Given the description of an element on the screen output the (x, y) to click on. 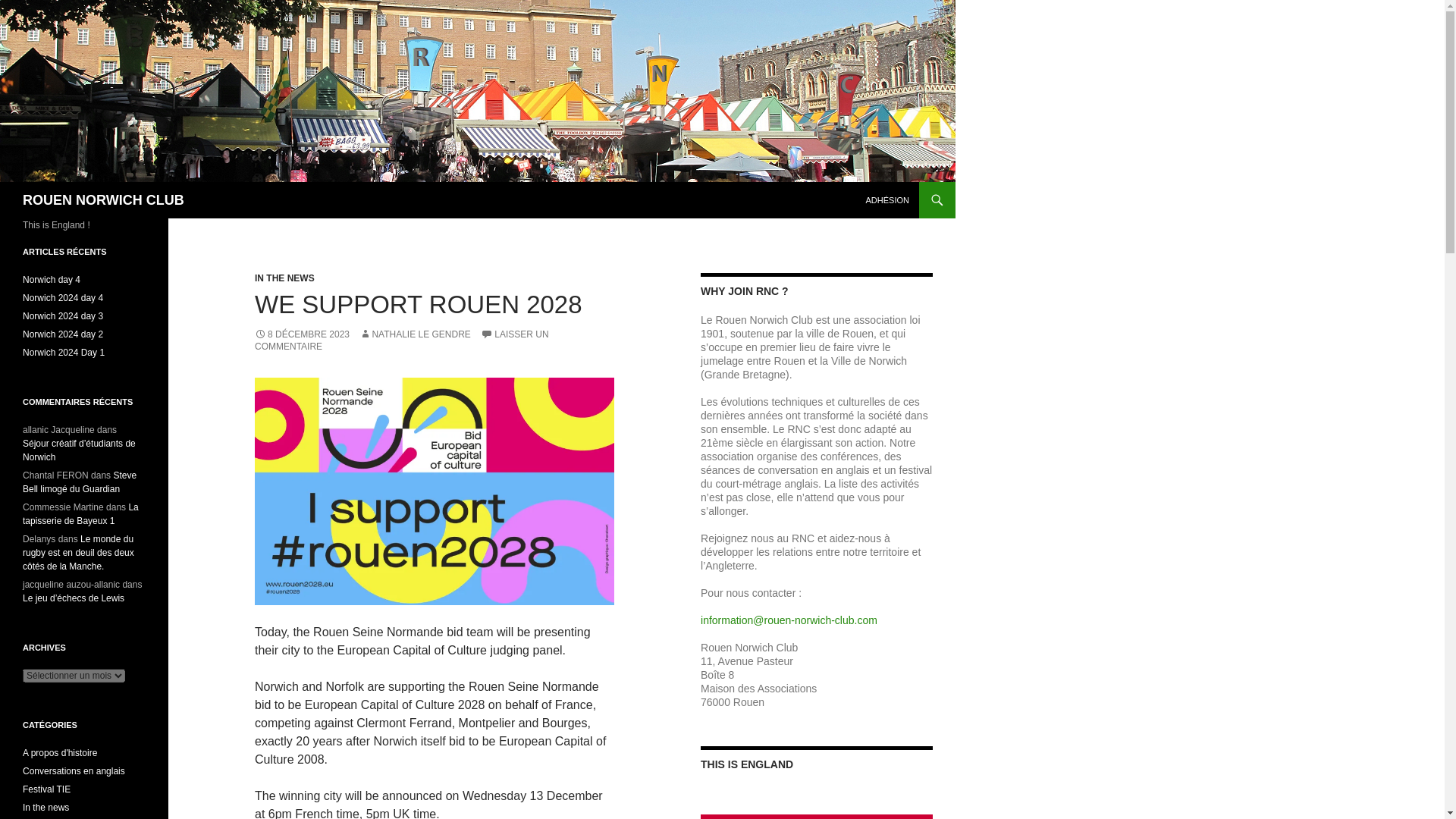
Conversations en anglais (74, 770)
IN THE NEWS (284, 277)
NATHALIE LE GENDRE (414, 334)
Norwich day 4 (51, 279)
Norwich 2024 day 3 (63, 316)
LAISSER UN COMMENTAIRE (401, 340)
La tapisserie de Bayeux 1 (80, 514)
Norwich 2024 day 2 (63, 334)
Festival TIE (46, 788)
ROUEN NORWICH CLUB (103, 199)
Norwich 2024 Day 1 (63, 352)
In the news (45, 807)
A propos d'histoire (60, 752)
